Given the description of an element on the screen output the (x, y) to click on. 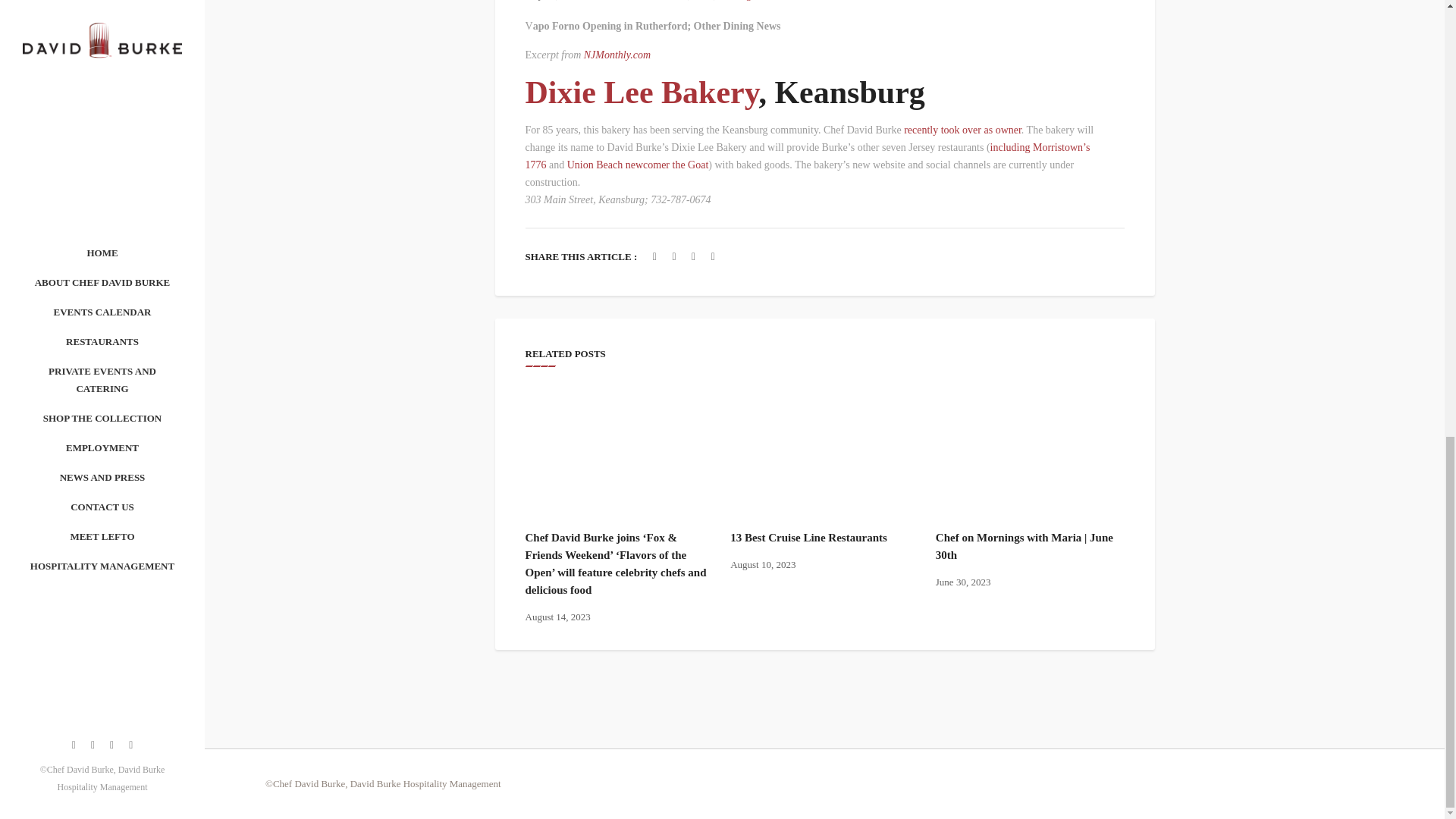
13 Best Cruise Line Restaurants (808, 537)
Dixie Lee Bakery (641, 92)
Uncategorized (746, 0)
Union Beach newcomer the Goat (638, 164)
NJMonthly.com (616, 54)
recently took over as owner (963, 129)
